Given the description of an element on the screen output the (x, y) to click on. 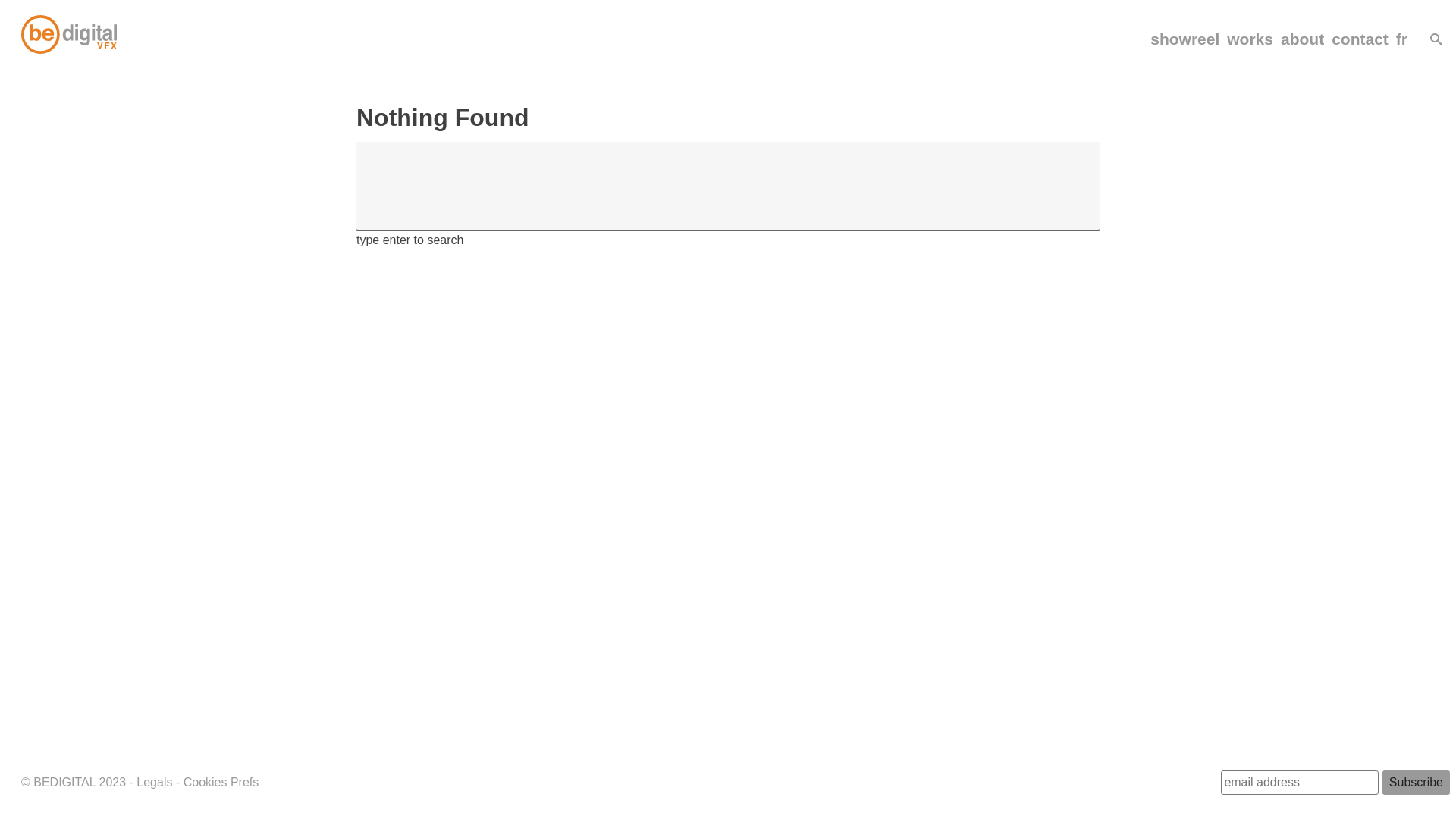
Subscribe Element type: text (1415, 782)
showreel Element type: text (1184, 39)
fr Element type: text (1401, 39)
about Element type: text (1302, 39)
contact Element type: text (1359, 39)
Legals Element type: text (154, 781)
Cookies Prefs Element type: text (221, 781)
works Element type: text (1249, 39)
